Given the description of an element on the screen output the (x, y) to click on. 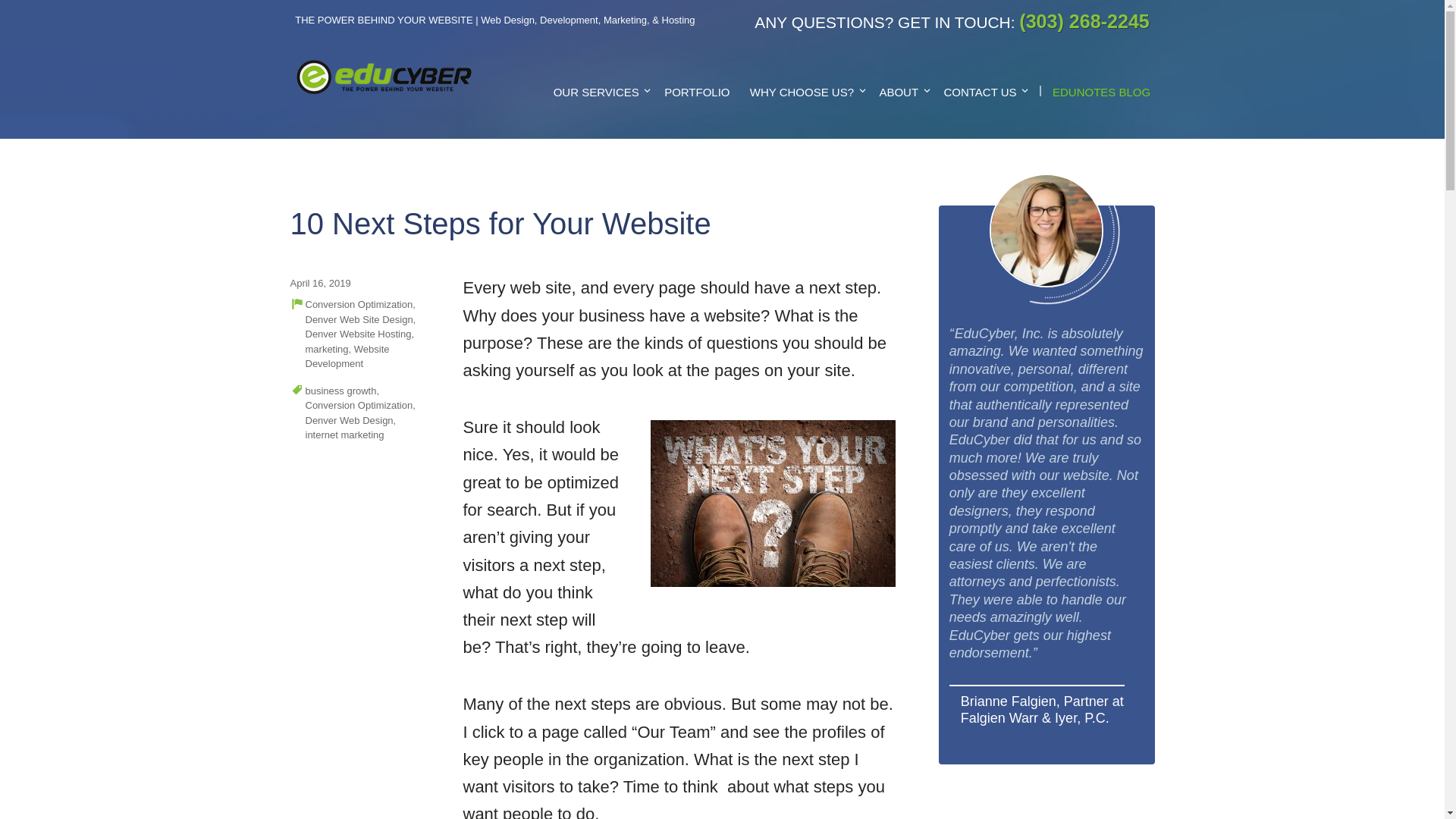
April 16, 2019 (319, 283)
EDUNOTES BLOG (1101, 91)
WHY CHOOSE US? (804, 91)
EduCyber (341, 123)
OUR SERVICES (598, 91)
Brianne Falgien 2 (1046, 230)
ABOUT (901, 91)
CONTACT US (982, 91)
10 Next Steps For Your Website 1 (772, 503)
Conversion Optimization (358, 304)
PORTFOLIO (696, 91)
